Given the description of an element on the screen output the (x, y) to click on. 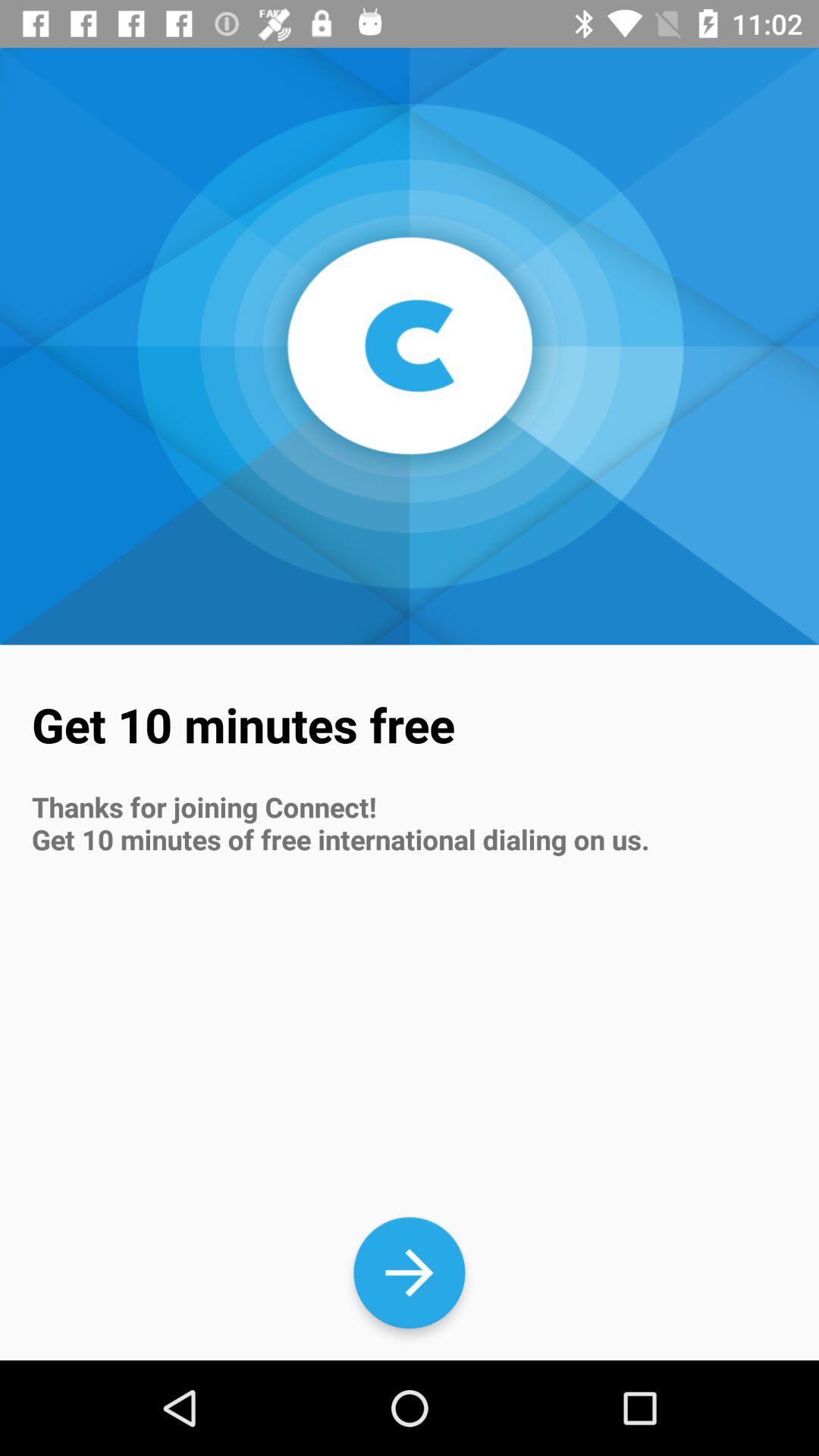
go next (409, 1272)
